Given the description of an element on the screen output the (x, y) to click on. 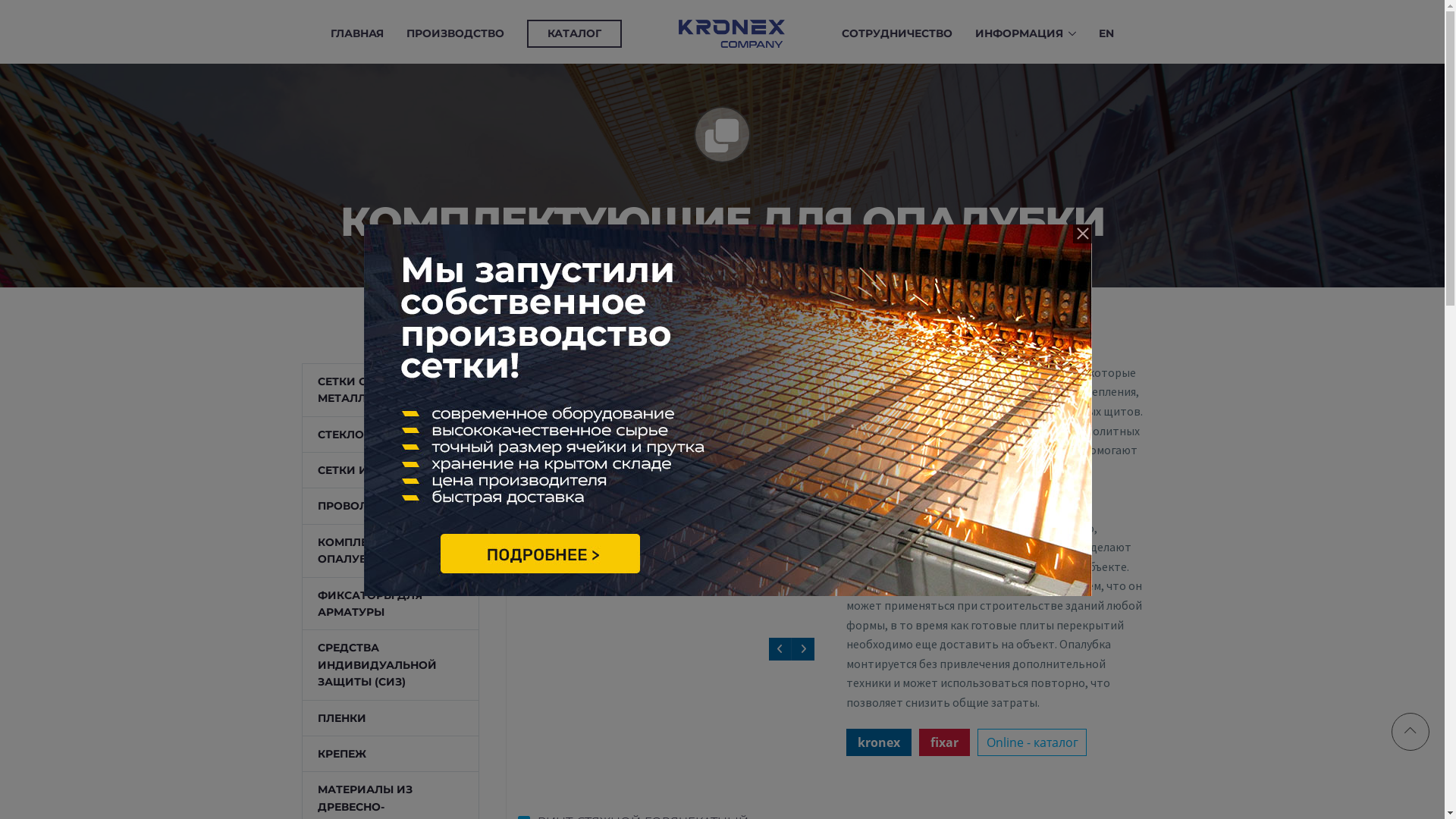
EN Element type: text (1105, 33)
fixar Element type: text (944, 742)
kronex Element type: text (878, 742)
